Given the description of an element on the screen output the (x, y) to click on. 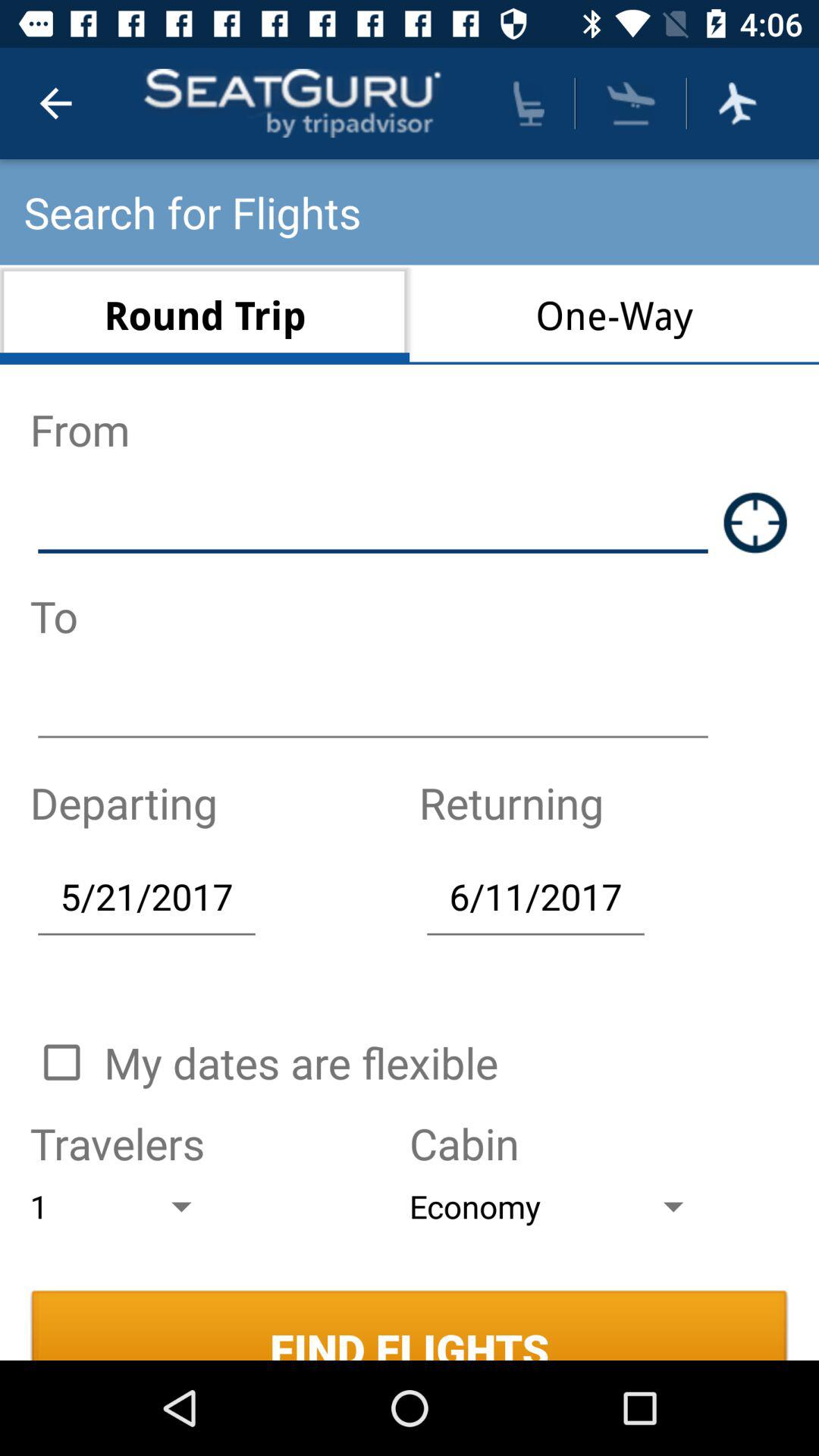
toggle drop down menu (630, 103)
